Given the description of an element on the screen output the (x, y) to click on. 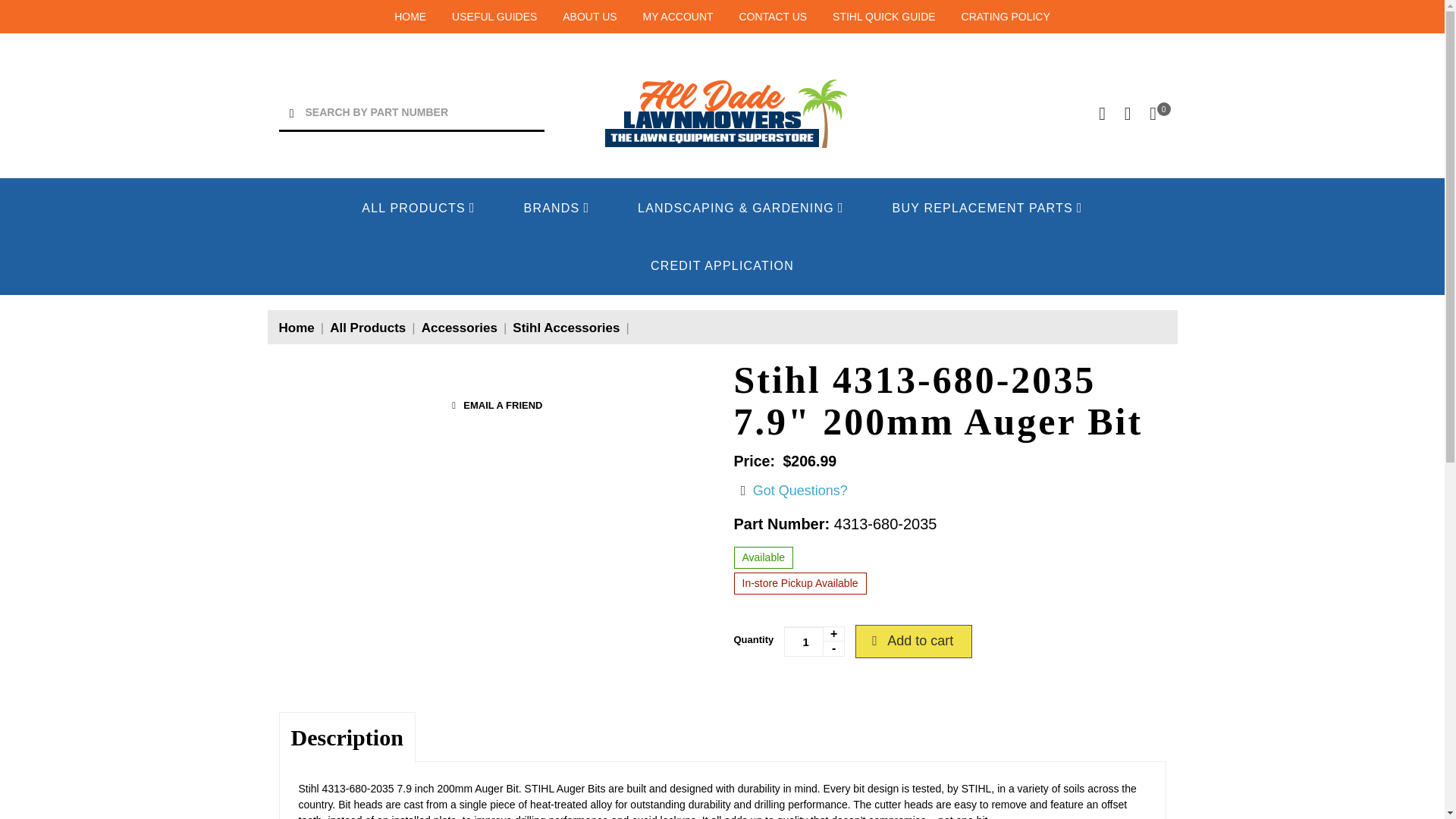
USEFUL GUIDES (494, 16)
1 (814, 641)
CRATING POLICY (1004, 16)
0 (1153, 113)
MY ACCOUNT (677, 16)
HOME (410, 16)
ABOUT US (588, 16)
BRANDS (556, 207)
ALL PRODUCTS (417, 207)
CONTACT US (772, 16)
STIHL QUICK GUIDE (884, 16)
